Given the description of an element on the screen output the (x, y) to click on. 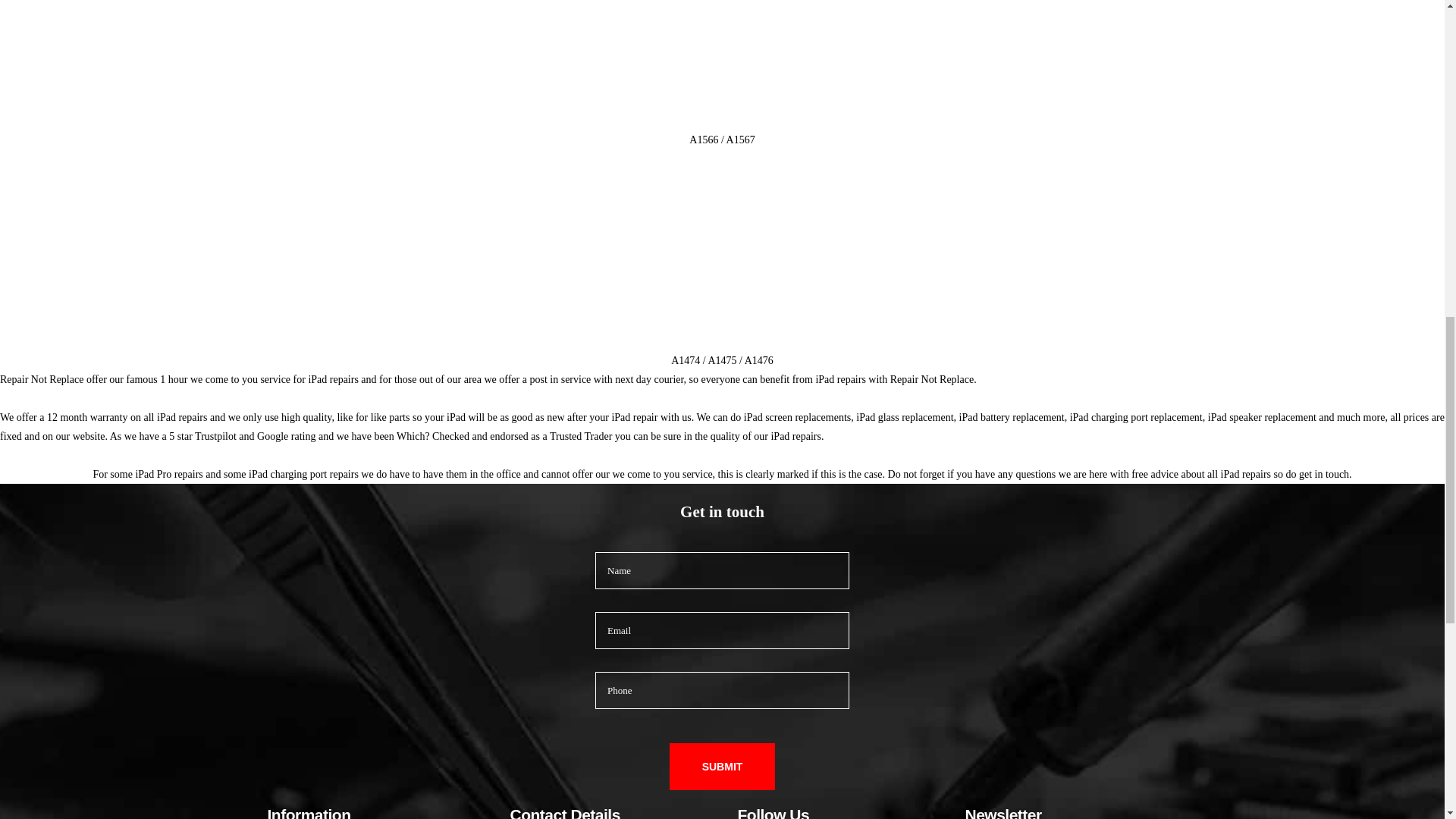
ipad air 2 (720, 65)
ipad air repairs (720, 261)
Submit (722, 766)
